Given the description of an element on the screen output the (x, y) to click on. 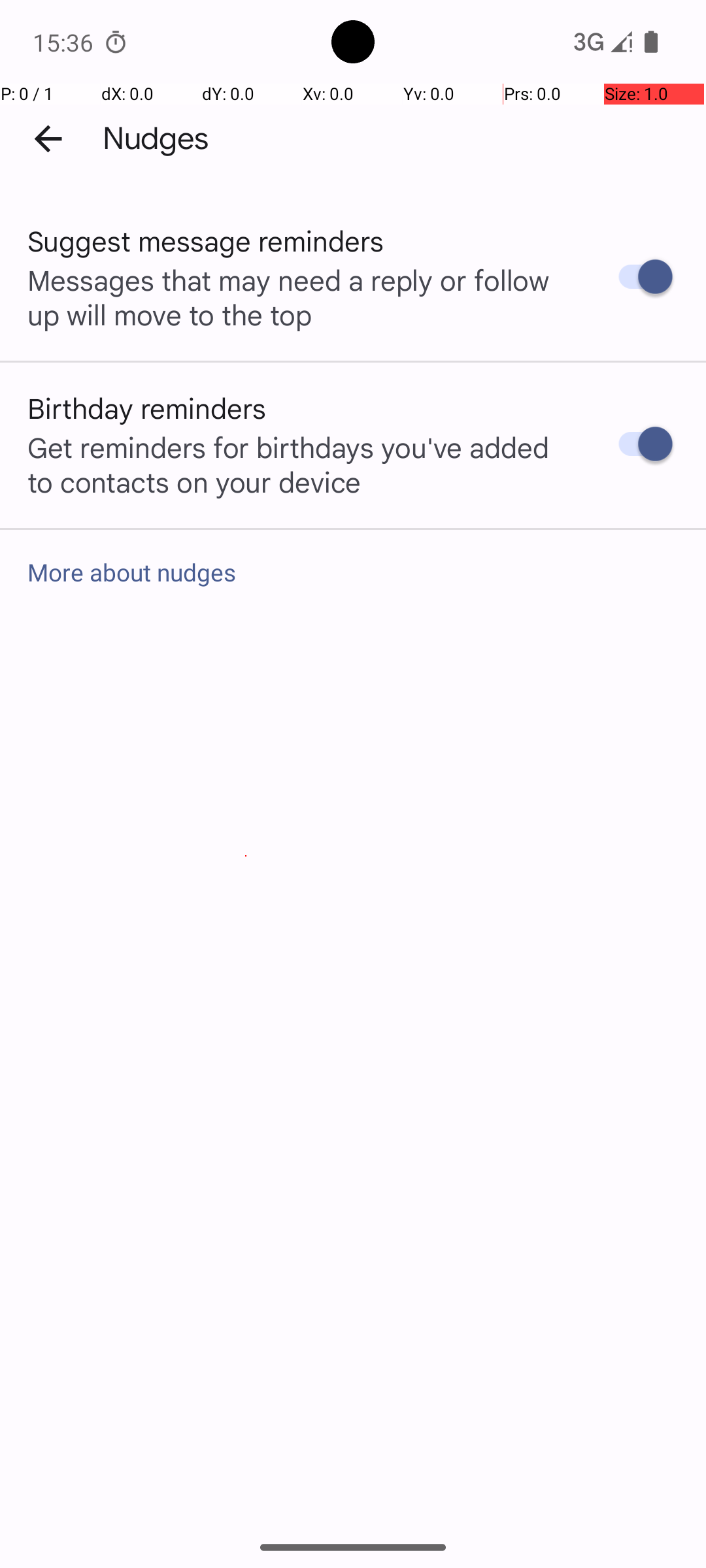
Nudges Element type: android.widget.TextView (155, 138)
More about nudges Element type: android.widget.TextView (353, 571)
Suggest message reminders Element type: android.widget.TextView (205, 240)
Messages that may need a reply or follow up will move to the top Element type: android.widget.TextView (299, 296)
Birthday reminders Element type: android.widget.TextView (146, 407)
Get reminders for birthdays you've added to contacts on your device Element type: android.widget.TextView (299, 463)
